Given the description of an element on the screen output the (x, y) to click on. 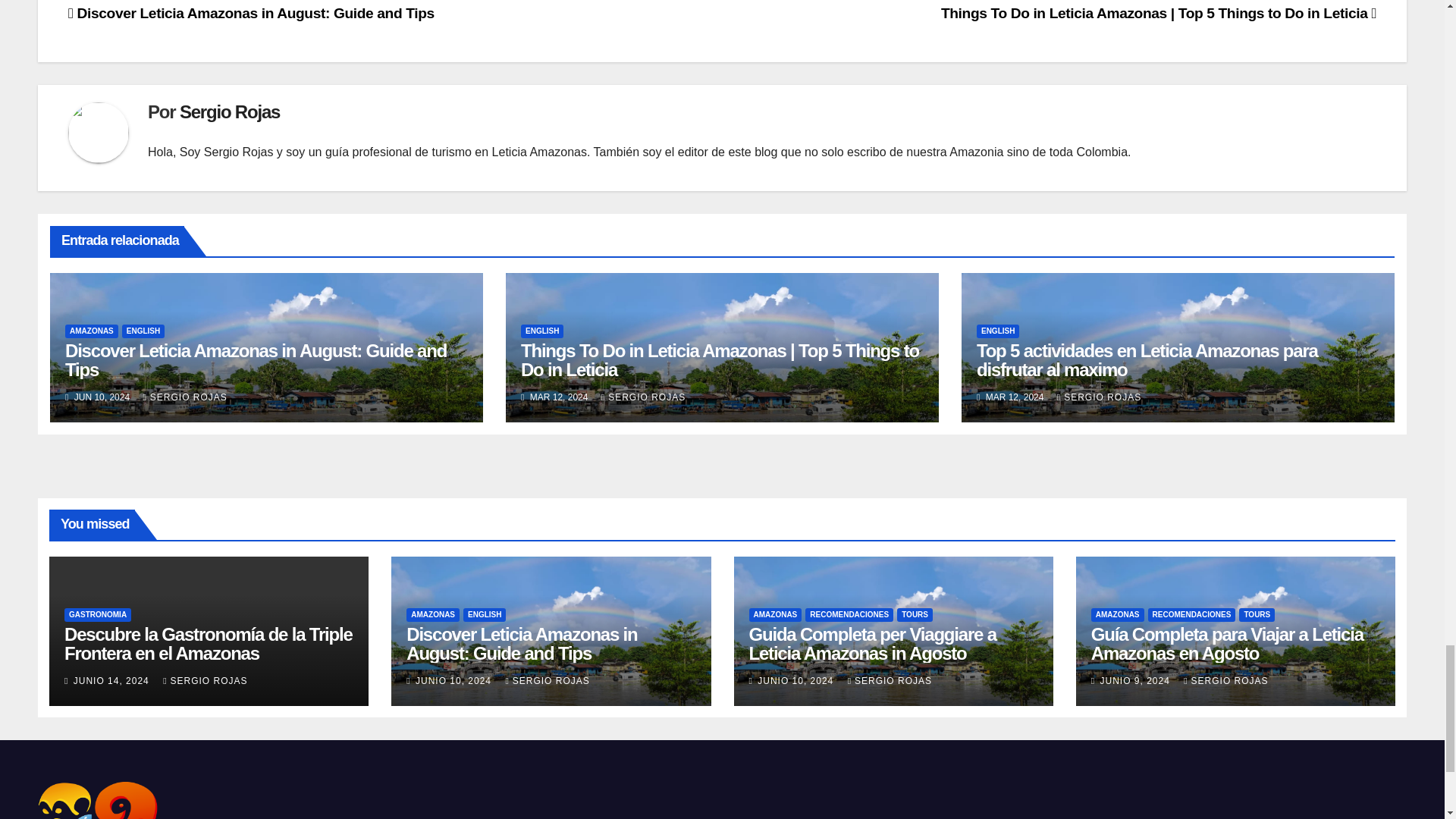
AMAZONAS (91, 331)
ENGLISH (143, 331)
SERGIO ROJAS (643, 397)
Discover Leticia Amazonas in August: Guide and Tips (255, 360)
SERGIO ROJAS (184, 397)
Sergio Rojas (229, 111)
Discover Leticia Amazonas in August: Guide and Tips (250, 12)
ENGLISH (542, 331)
